Given the description of an element on the screen output the (x, y) to click on. 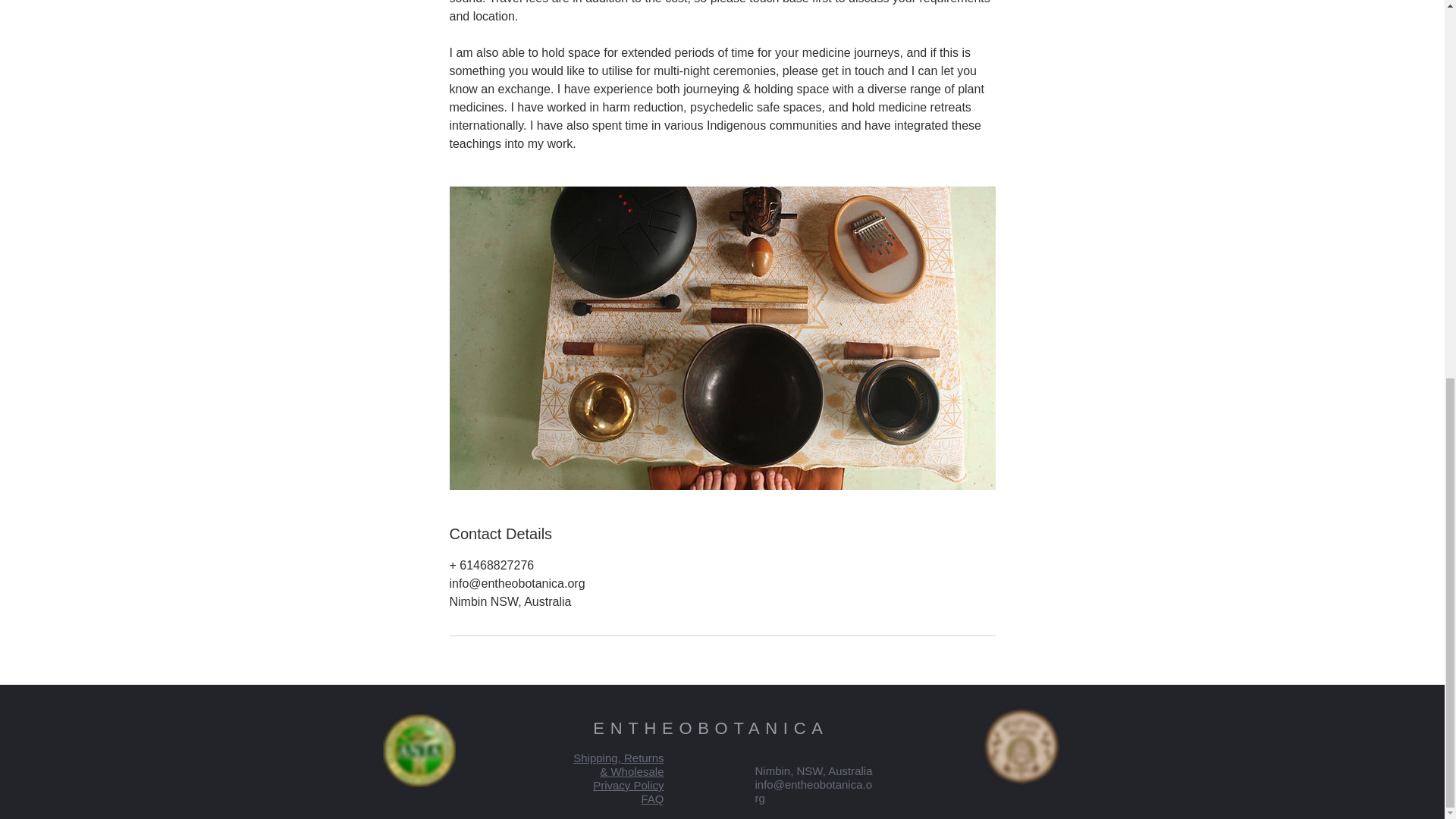
Privacy Policy (627, 784)
FAQ (651, 798)
